Given the description of an element on the screen output the (x, y) to click on. 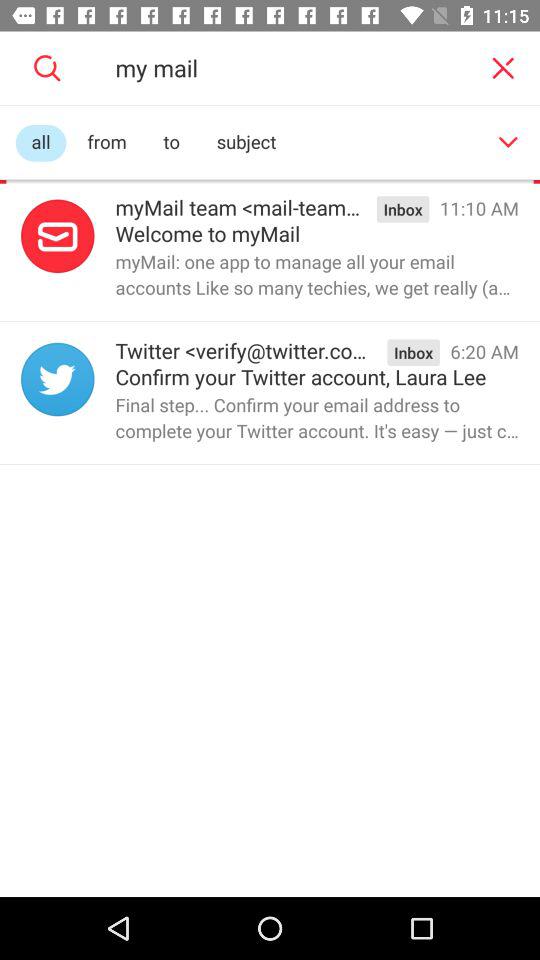
open from item (106, 142)
